Given the description of an element on the screen output the (x, y) to click on. 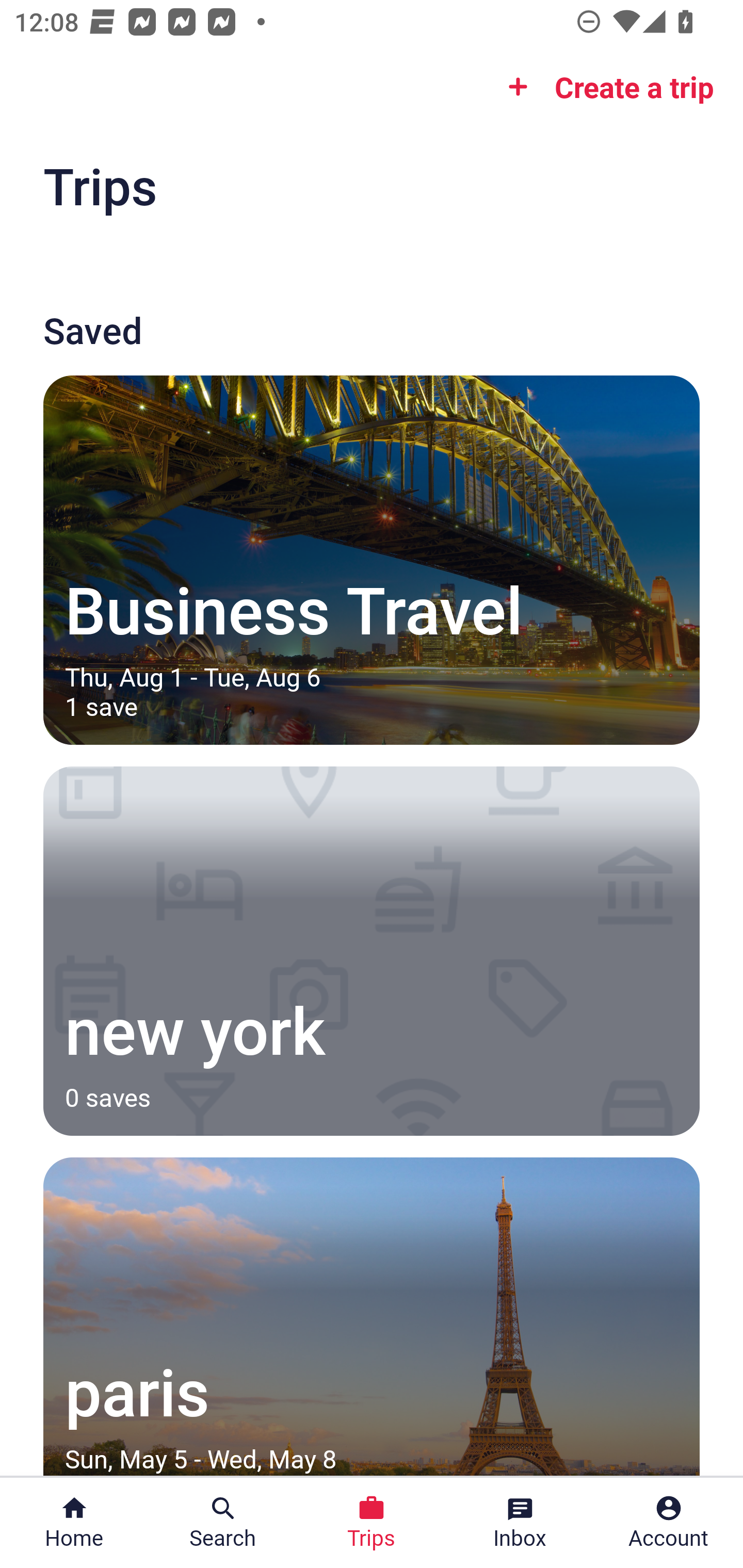
Create a trip Create a trip Button (605, 86)
new york. 0 saves.  Button new york 0 saves (371, 950)
Home Home Button (74, 1522)
Search Search Button (222, 1522)
Inbox Inbox Button (519, 1522)
Account Profile. Button (668, 1522)
